Given the description of an element on the screen output the (x, y) to click on. 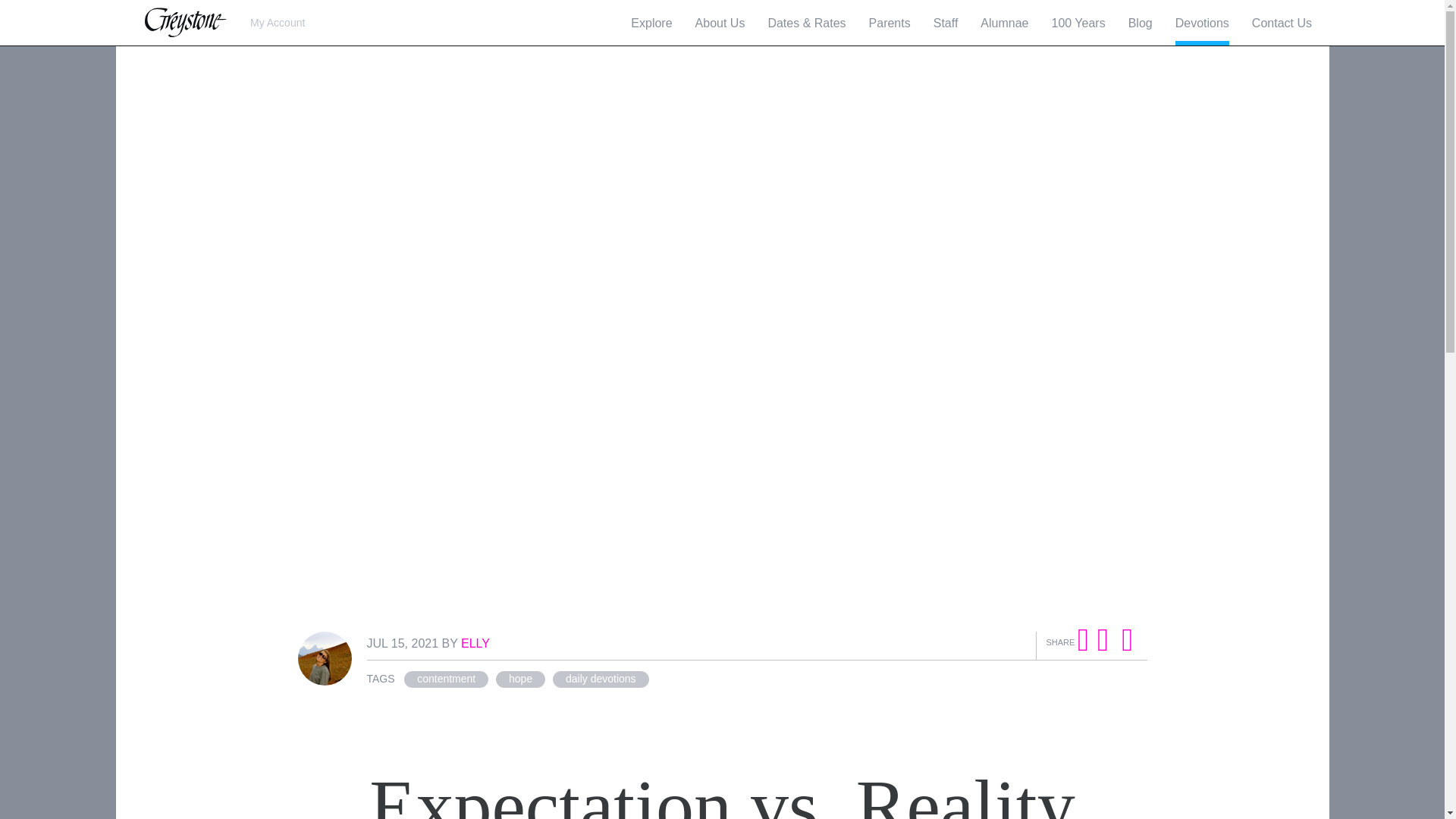
About Us (720, 22)
Explore (650, 22)
Parents (890, 22)
